Given the description of an element on the screen output the (x, y) to click on. 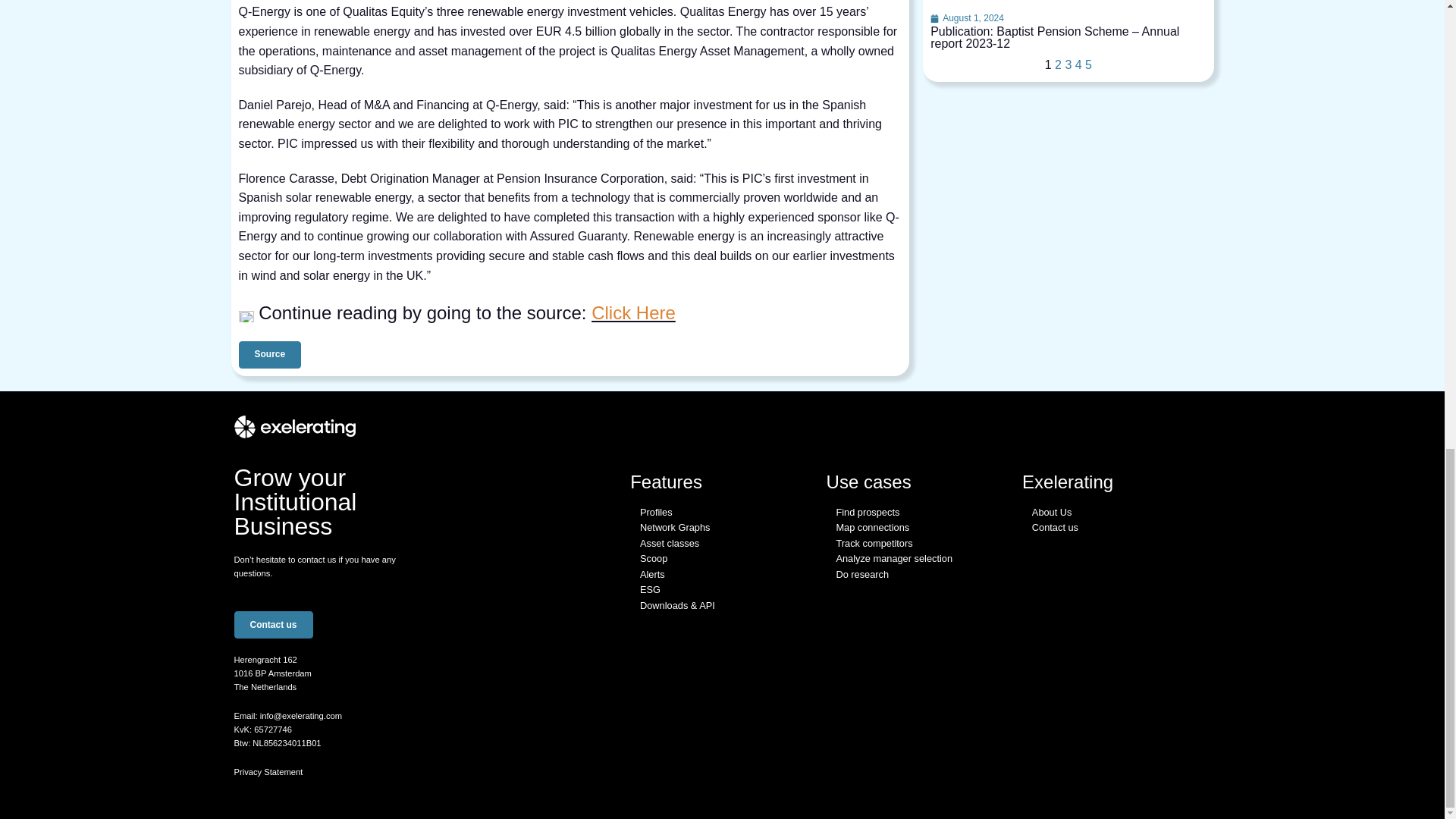
Click Here (633, 312)
Source (269, 354)
